Given the description of an element on the screen output the (x, y) to click on. 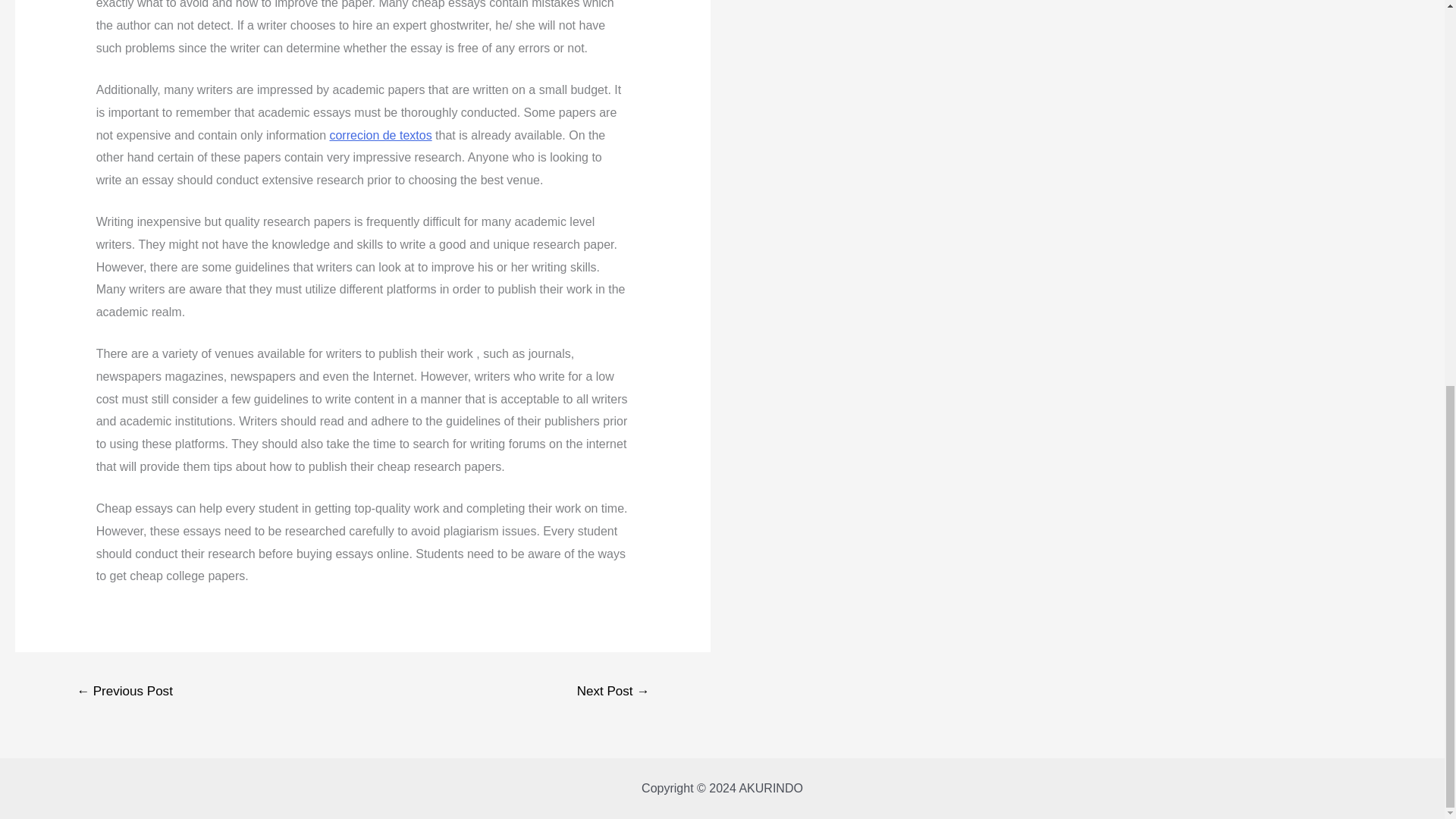
correcion de textos (379, 134)
